Given the description of an element on the screen output the (x, y) to click on. 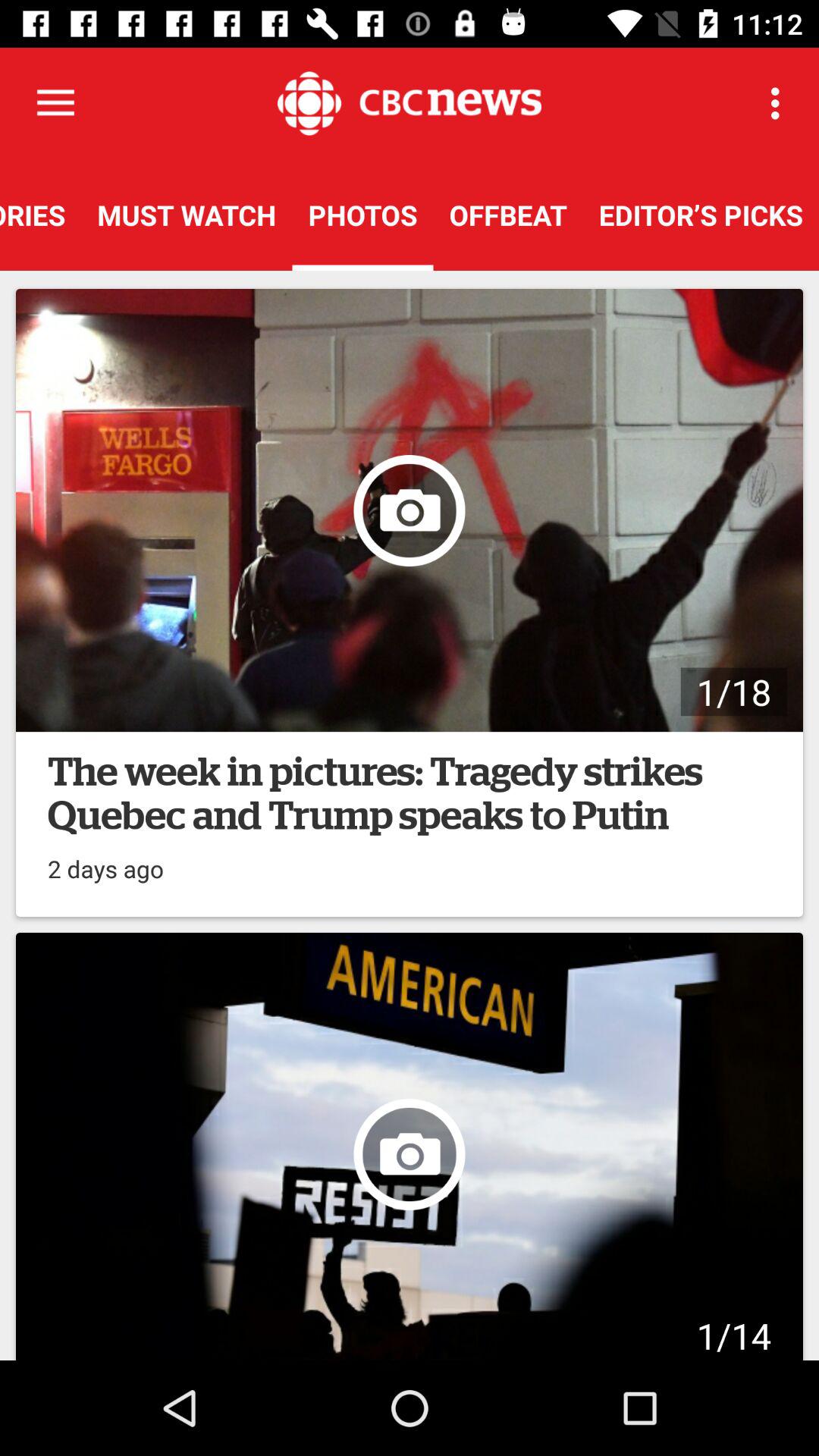
launch icon to the left of must watch item (40, 214)
